Given the description of an element on the screen output the (x, y) to click on. 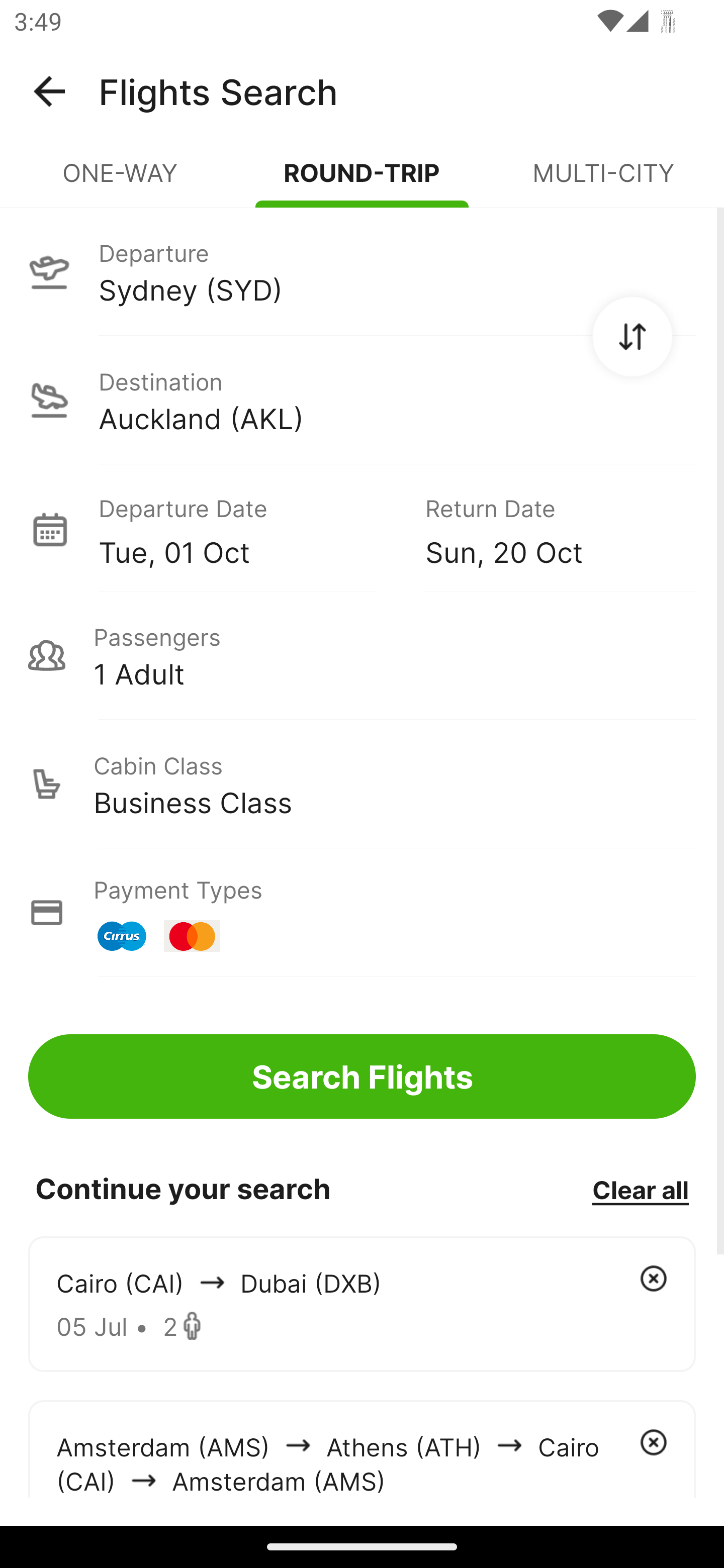
ONE-WAY (120, 180)
ROUND-TRIP (361, 180)
MULTI-CITY (603, 180)
Departure Sydney (SYD) (362, 270)
Destination Auckland (AKL) (362, 400)
Departure Date Tue, 01 Oct (247, 528)
Return Date Sun, 20 Oct (546, 528)
Passengers 1 Adult (362, 655)
Cabin Class Business Class (362, 783)
Payment Types (362, 912)
Search Flights (361, 1075)
Clear all (640, 1189)
Cairo (CAI)  arrowIcon  Dubai (DXB) 05 Jul •  2  (361, 1303)
